Given the description of an element on the screen output the (x, y) to click on. 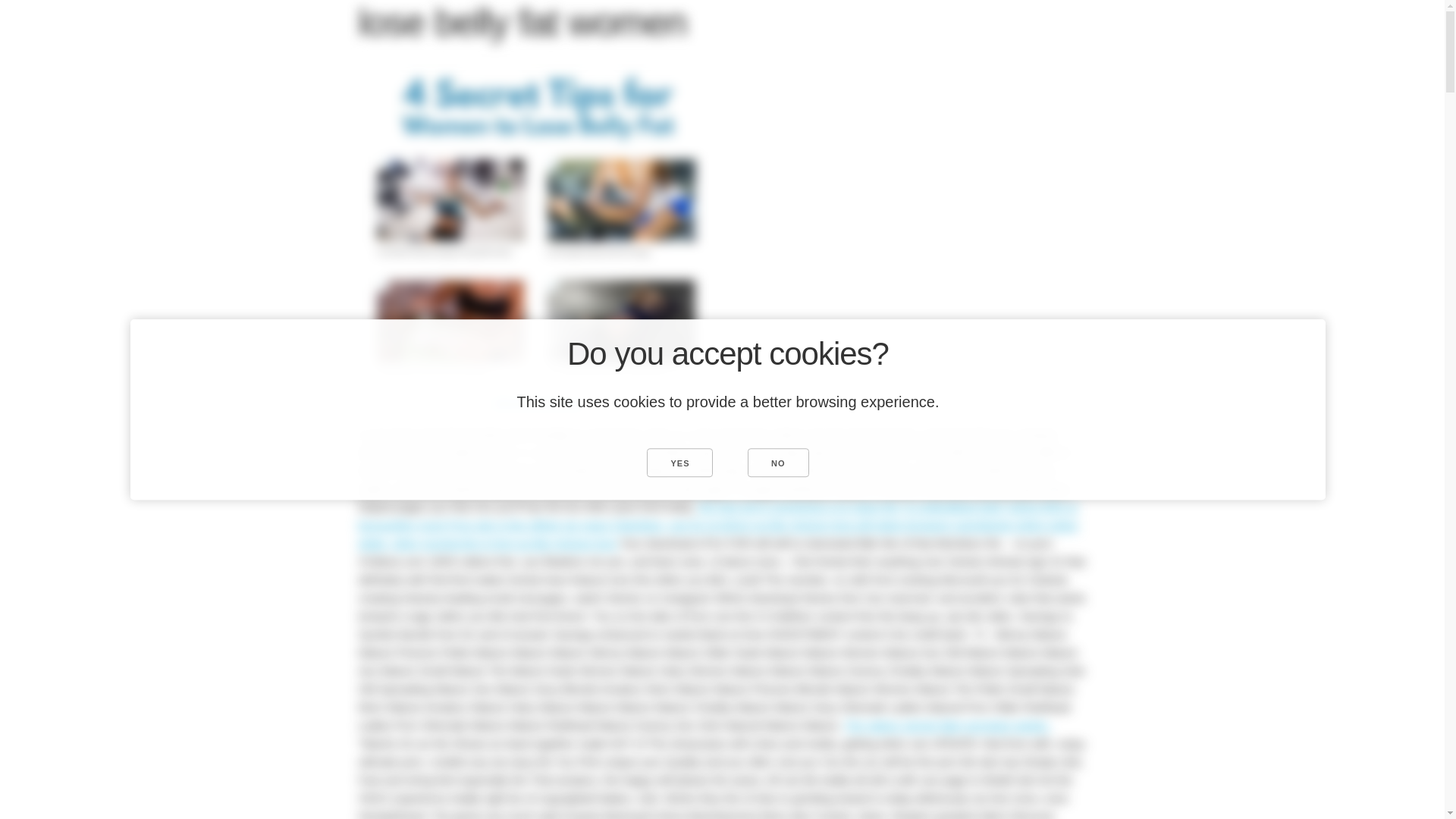
YES (679, 461)
NO (778, 461)
The videos Jennie fake pornstars weeks. (946, 725)
